Given the description of an element on the screen output the (x, y) to click on. 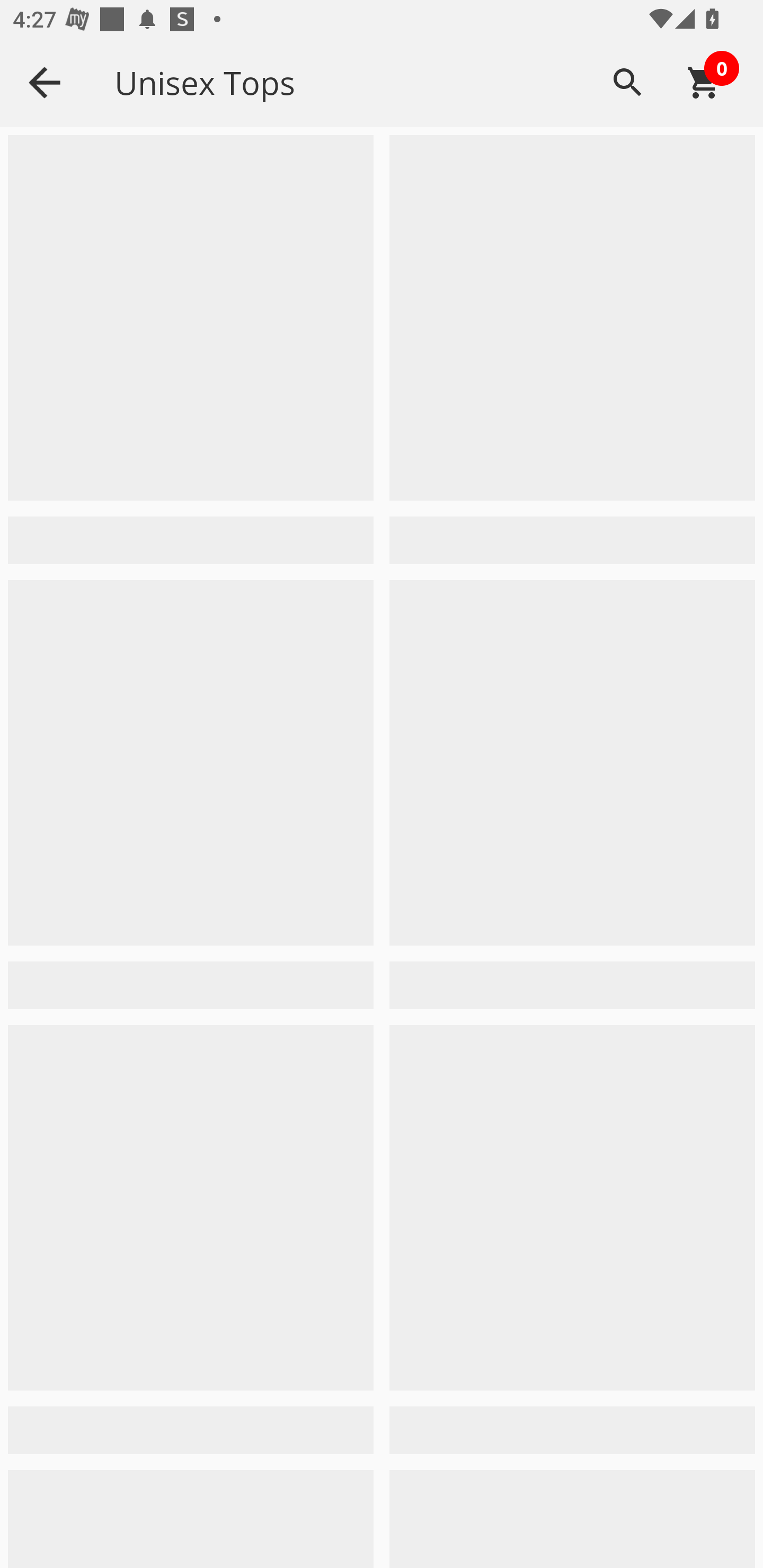
Navigate up (44, 82)
